Given the description of an element on the screen output the (x, y) to click on. 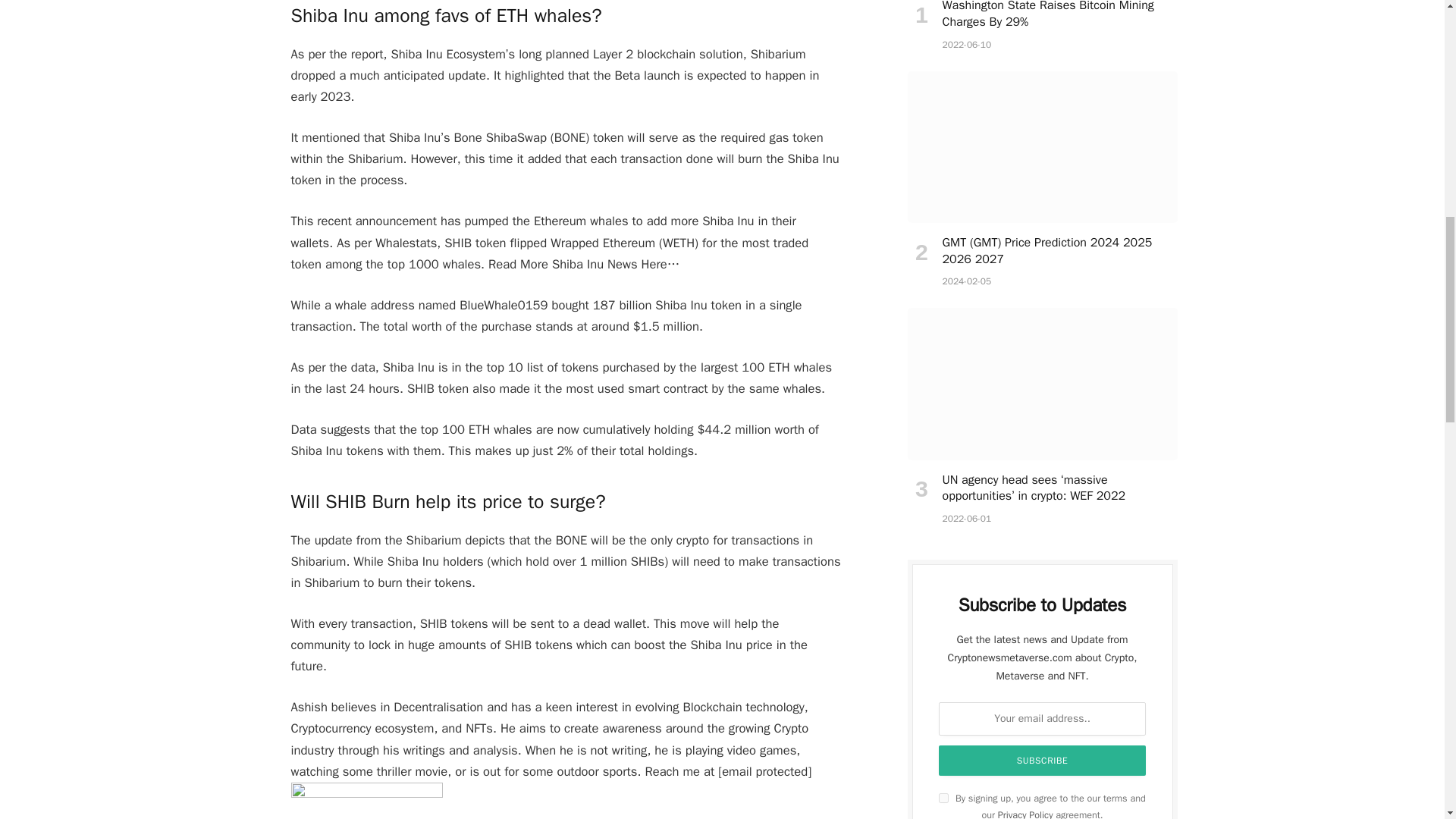
on (944, 798)
Subscribe (1043, 760)
